Given the description of an element on the screen output the (x, y) to click on. 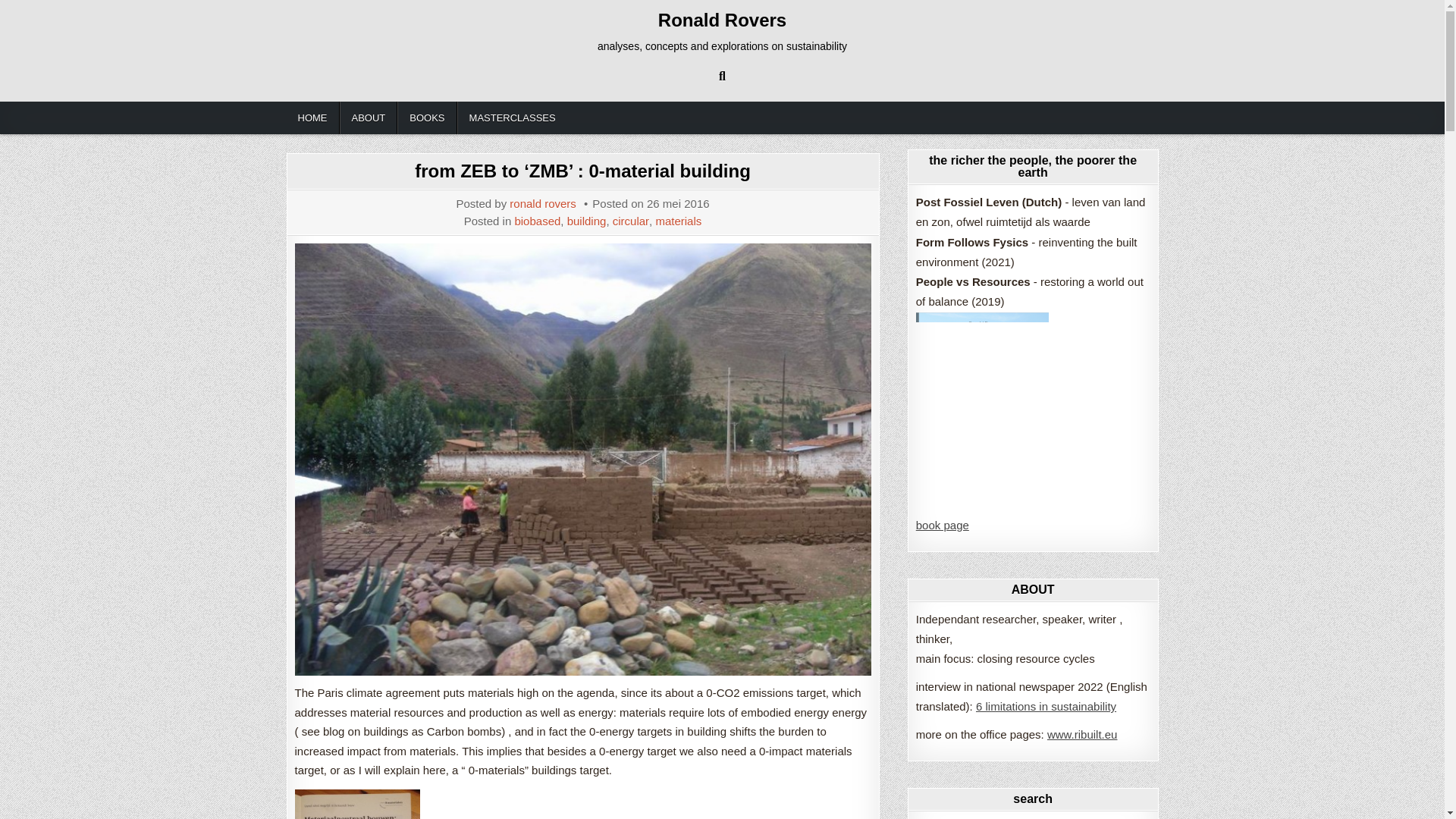
ABOUT (368, 117)
MASTERCLASSES (512, 117)
circular (630, 220)
www.ribuilt.eu (1082, 734)
biobased (536, 220)
6 limitations in sustainability (1045, 706)
building (587, 220)
book page (942, 524)
ronald rovers (542, 203)
Ronald Rovers (722, 19)
